Given the description of an element on the screen output the (x, y) to click on. 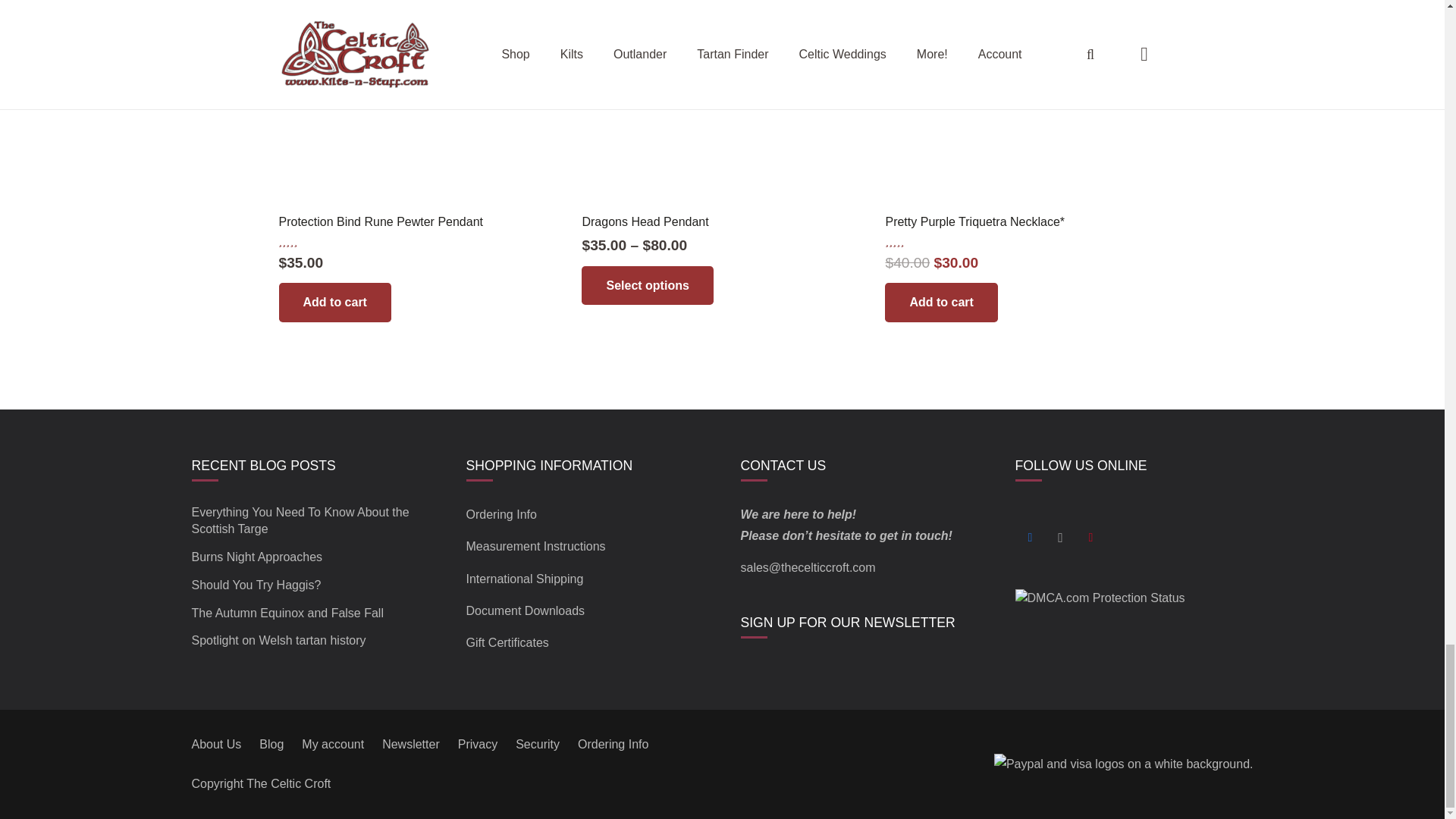
Facebook (1029, 537)
Pinterest (1090, 537)
Instagram (1060, 537)
DMCA.com Protection Status (1099, 597)
